Given the description of an element on the screen output the (x, y) to click on. 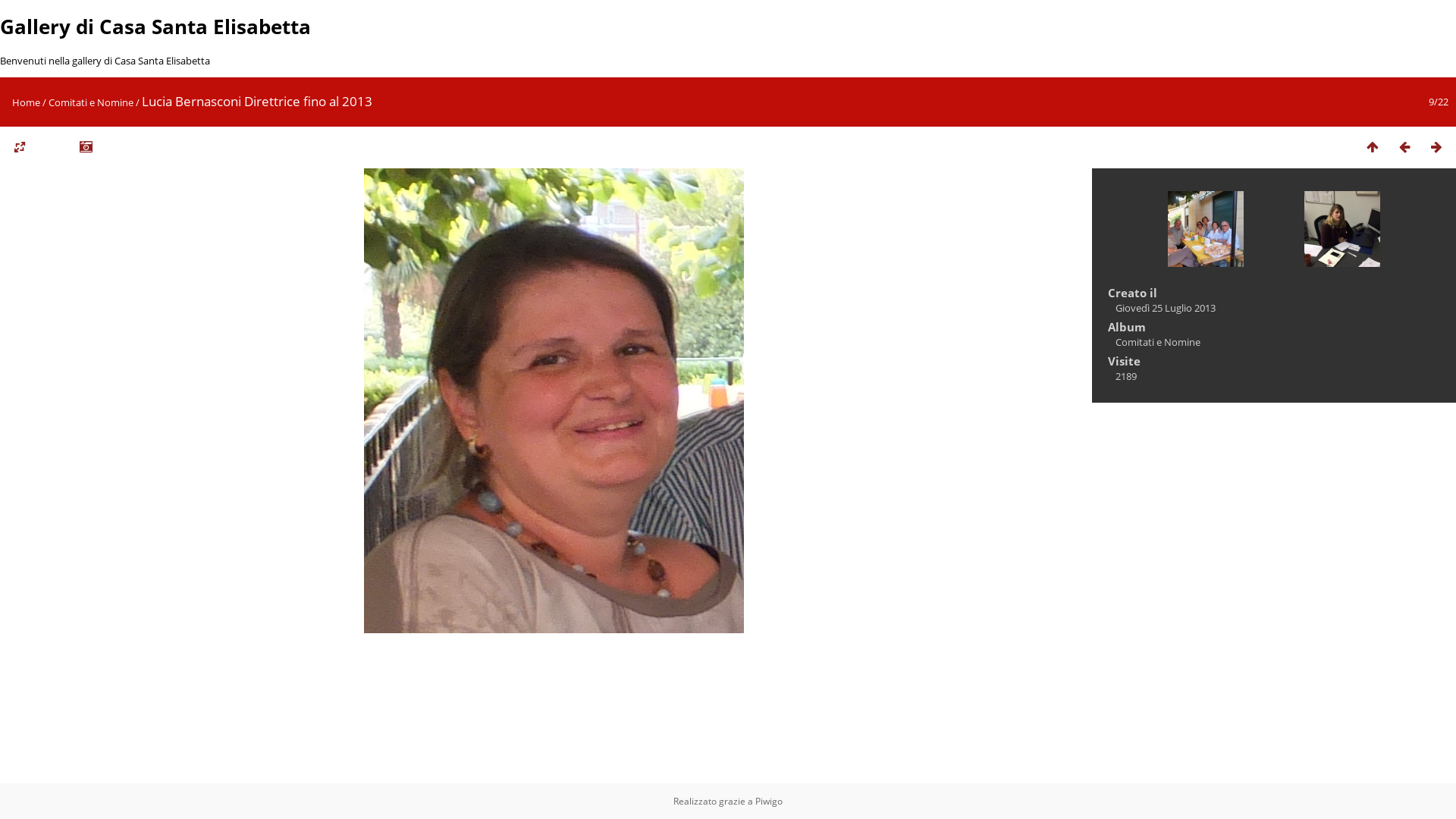
Piwigo Element type: text (768, 800)
Comitati e Nomine Element type: text (90, 102)
Miniature Element type: hover (1372, 146)
Comitati e Nomine Element type: text (1157, 341)
Dimensioni delle foto Element type: hover (19, 146)
Home Element type: text (26, 102)
Prossima : Lisa Macconi Direttrice fino al 2016 Element type: hover (1342, 230)
Prossima : Lisa Macconi Direttrice fino al 2016 Element type: hover (1436, 146)
Mostra i metadati del file Element type: hover (85, 146)
avviare proiezione di diapositive Element type: hover (53, 146)
